Given the description of an element on the screen output the (x, y) to click on. 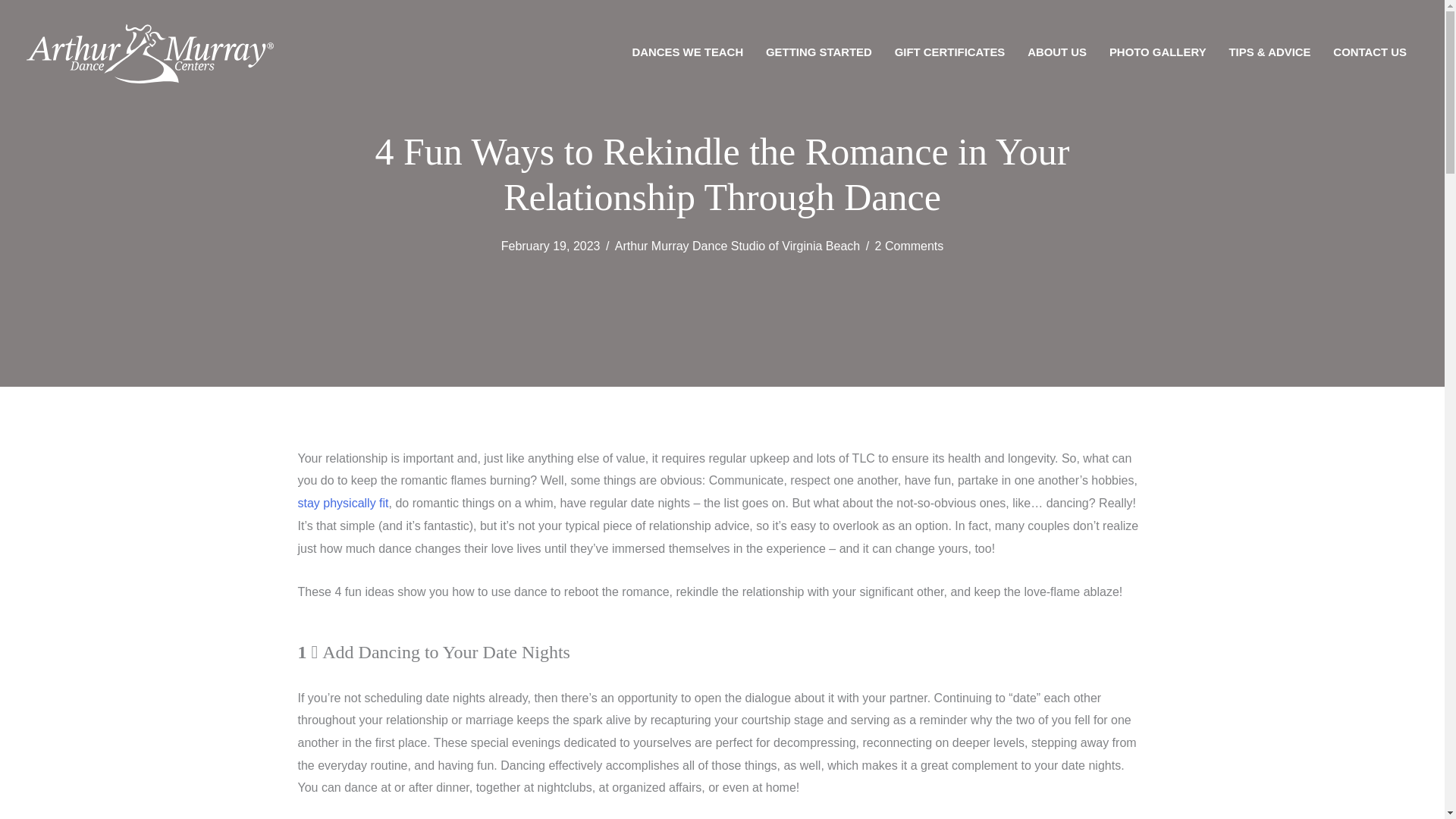
DANCES WE TEACH (687, 52)
GETTING STARTED (818, 52)
GIFT CERTIFICATES (949, 52)
ABOUT US (1056, 52)
PHOTO GALLERY (1157, 52)
